Given the description of an element on the screen output the (x, y) to click on. 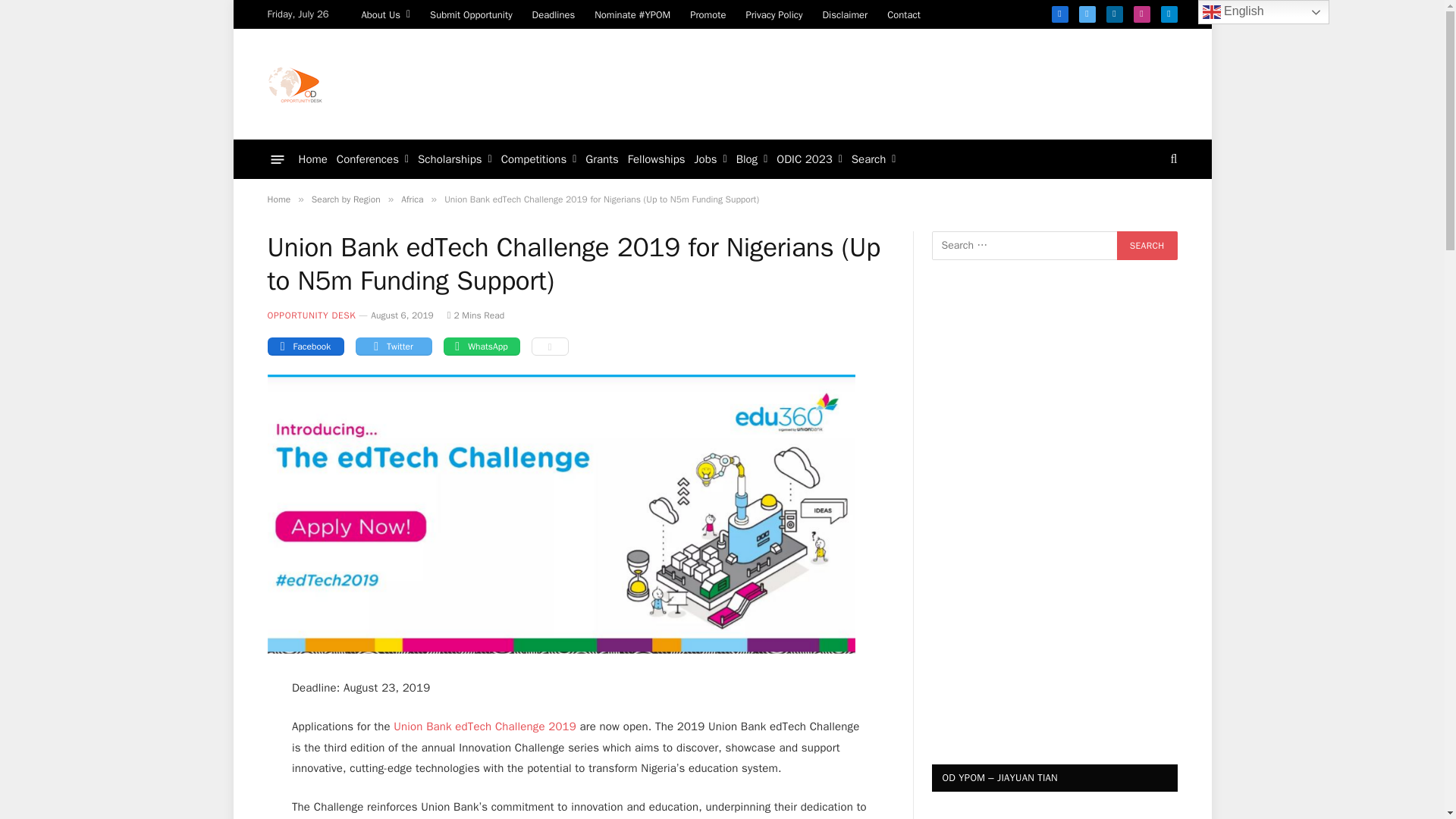
Share on Facebook (304, 346)
Search (1146, 245)
Posts by Opportunity Desk (310, 315)
Share on WhatsApp (480, 346)
Advertisement (900, 81)
Opportunity Desk (293, 83)
Show More Social Sharing (549, 346)
Search (1146, 245)
